Given the description of an element on the screen output the (x, y) to click on. 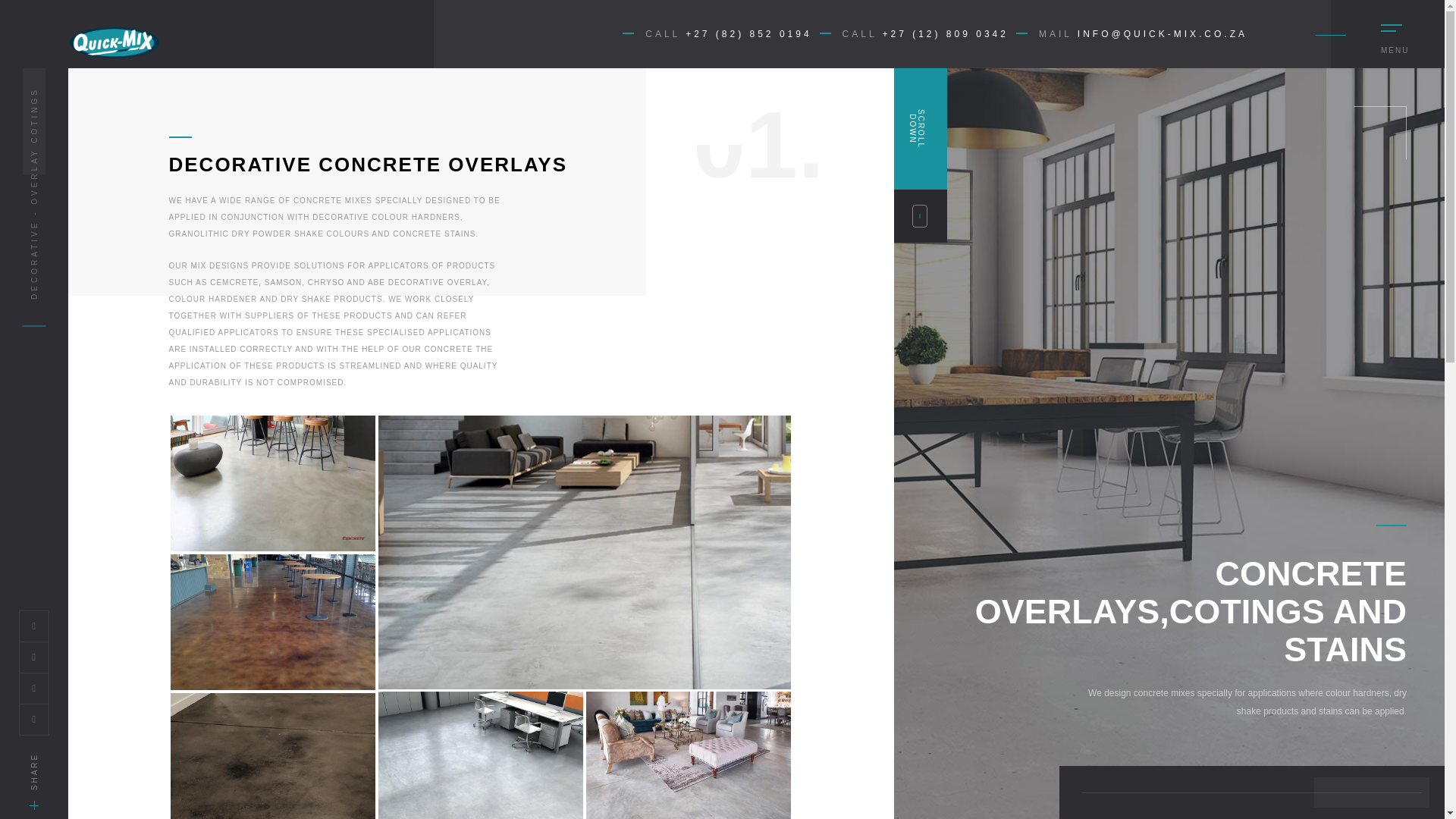
SCROLL DOWN (920, 154)
